Given the description of an element on the screen output the (x, y) to click on. 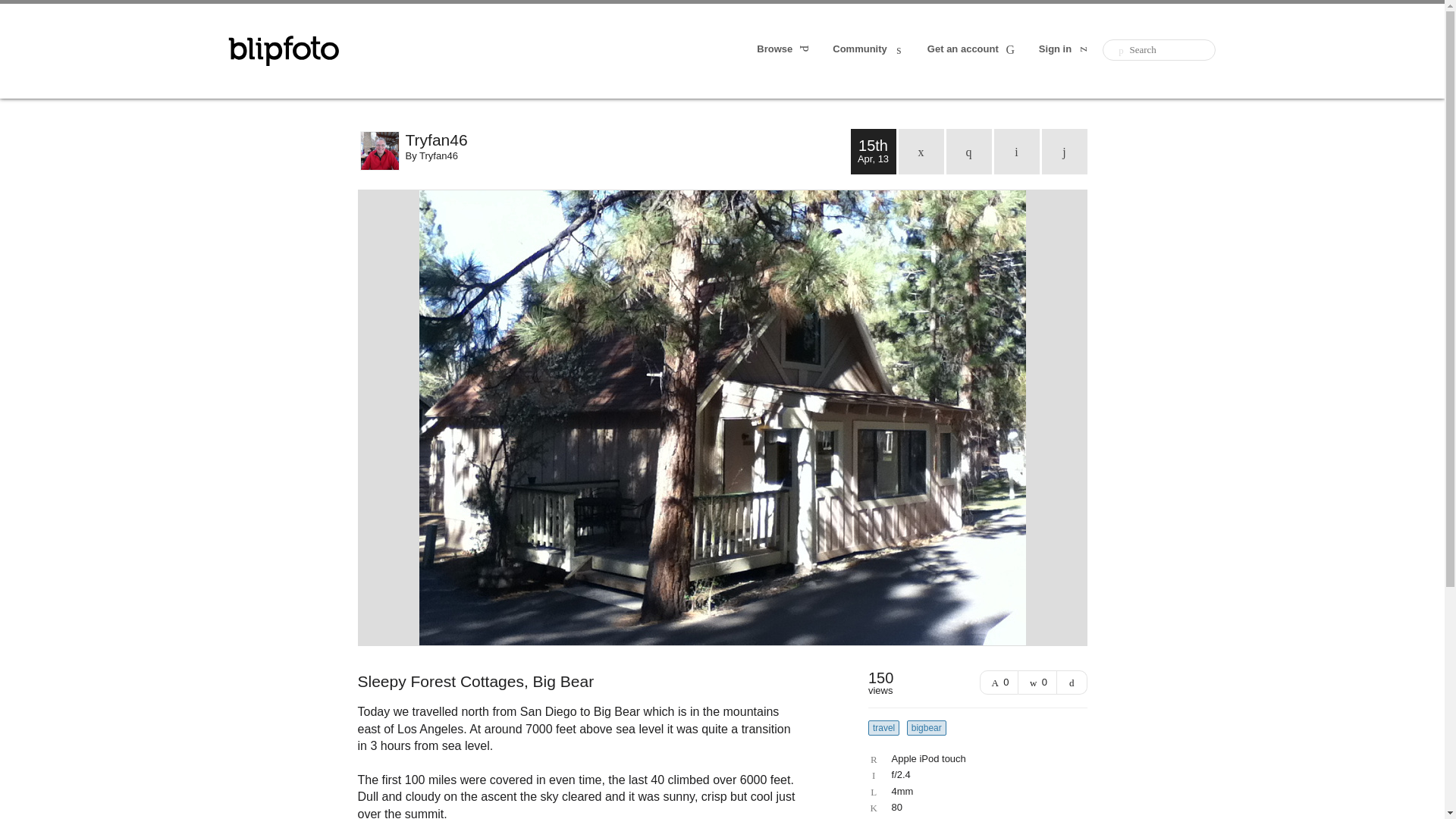
travel (883, 727)
Previous (1015, 151)
calendar (920, 151)
F-Stop (973, 774)
Tryfan46 (627, 139)
Camera (973, 758)
Tryfan46 (438, 155)
Sign in (1064, 50)
Get an account (972, 50)
Browse (783, 50)
ISO (973, 807)
Focal length (973, 791)
One year ago (968, 151)
Show large (1072, 682)
Community (868, 50)
